Given the description of an element on the screen output the (x, y) to click on. 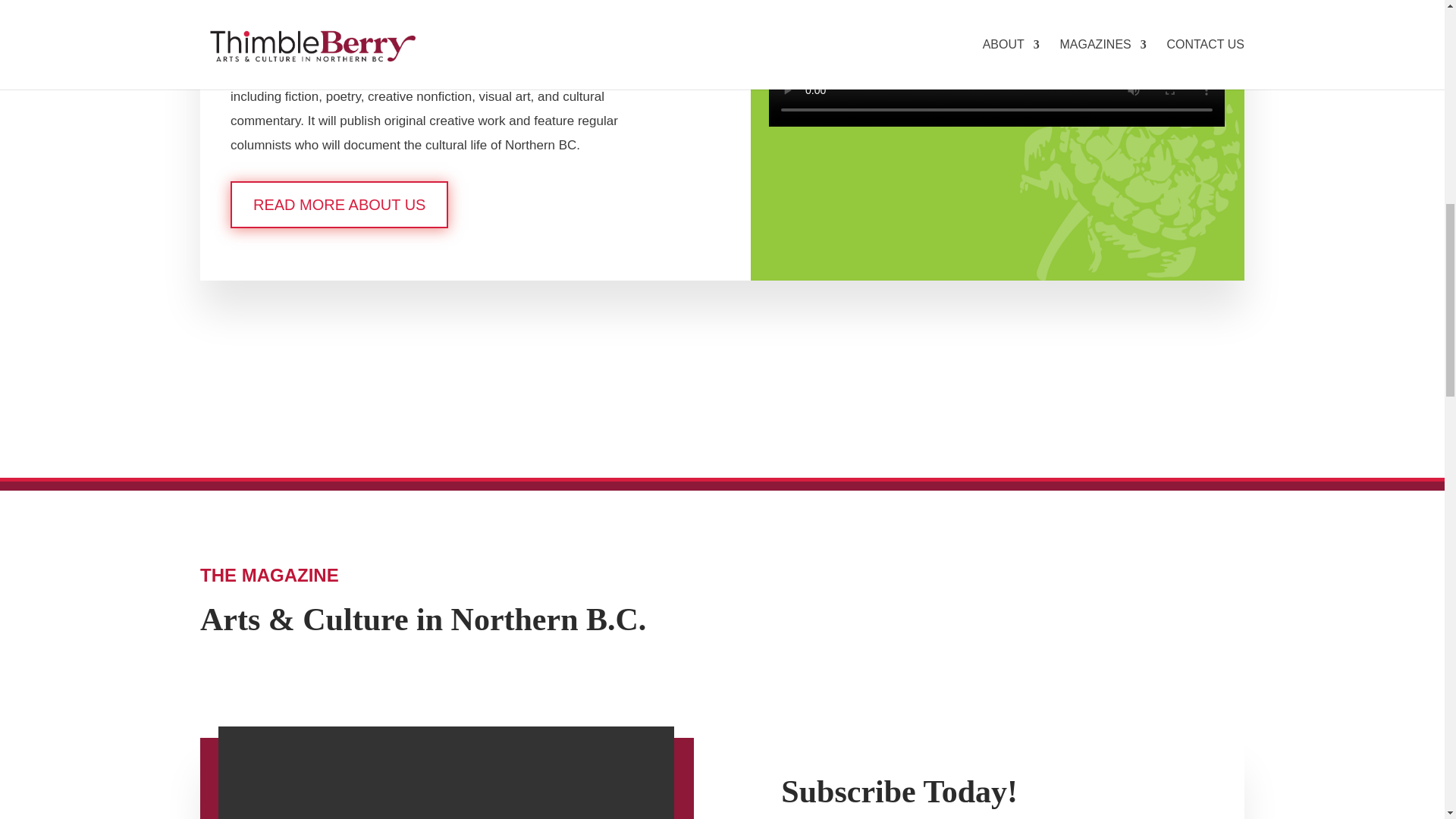
READ MORE ABOUT US (339, 204)
